Given the description of an element on the screen output the (x, y) to click on. 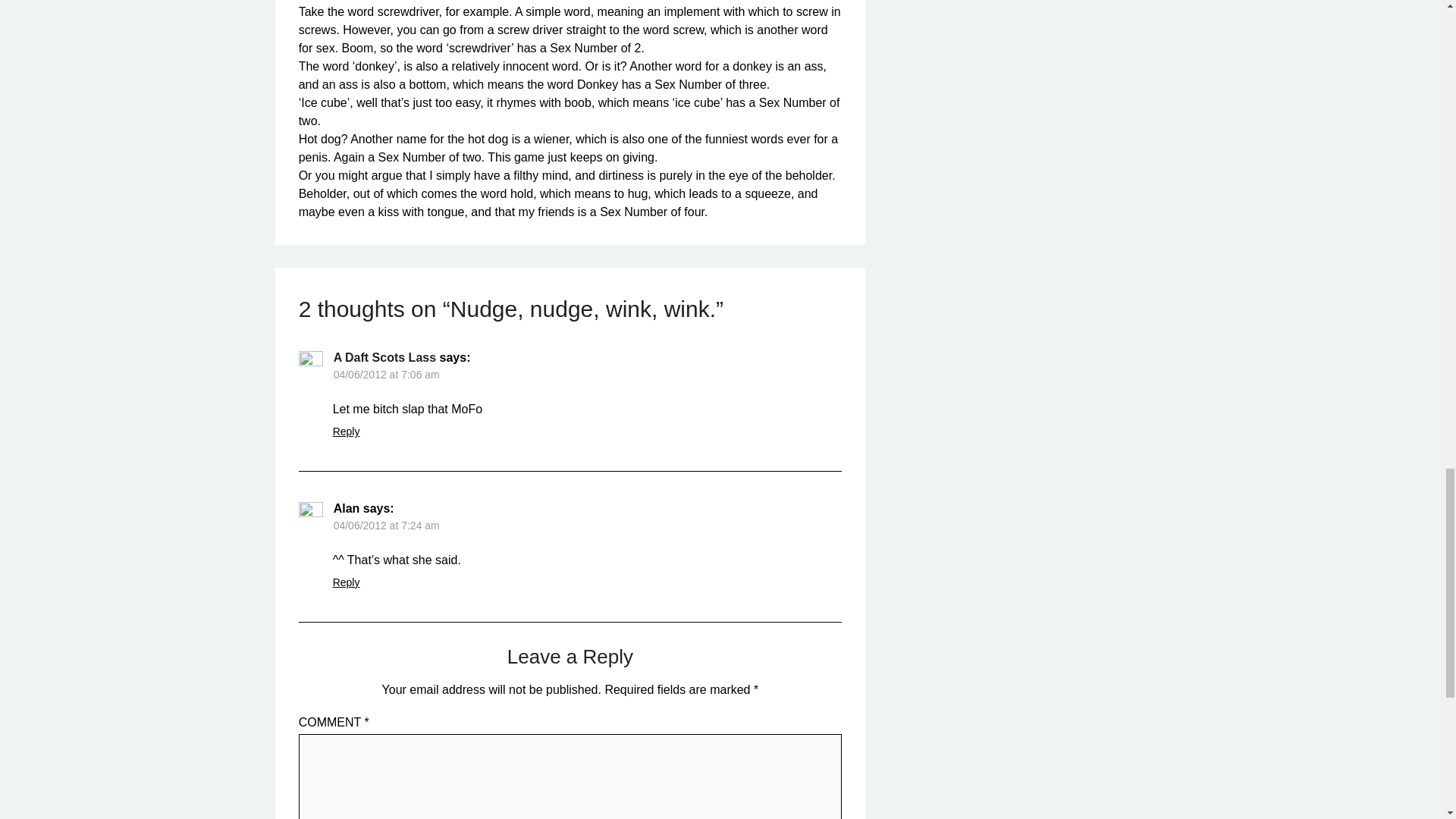
Reply (346, 431)
A Daft Scots Lass (384, 357)
Reply (346, 582)
